Given the description of an element on the screen output the (x, y) to click on. 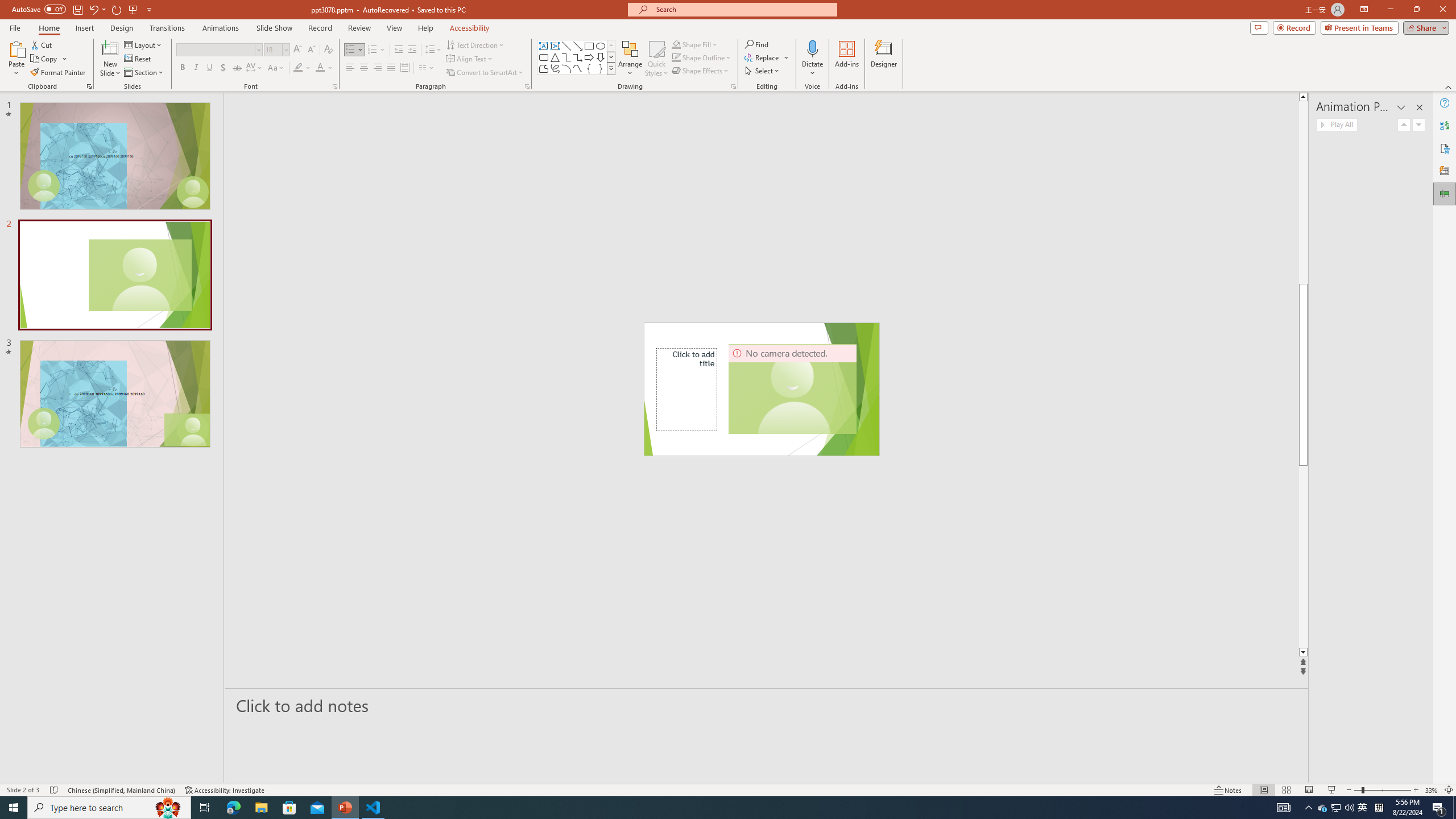
Move Up (1403, 124)
